Given the description of an element on the screen output the (x, y) to click on. 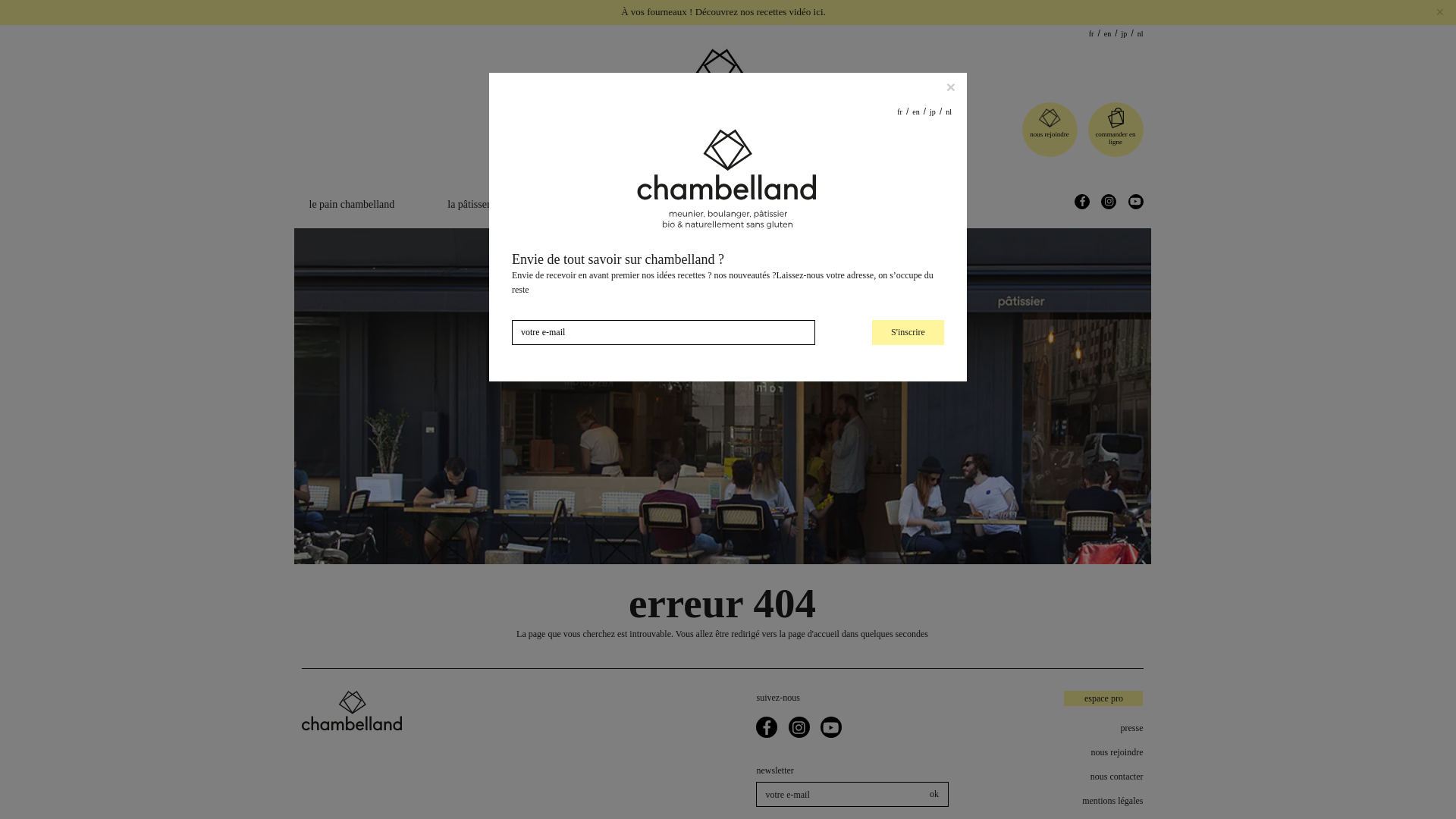
notre histoire (672, 204)
nous rejoindre (1072, 752)
en (1106, 33)
commander en ligne (1116, 137)
les boutiques (781, 204)
S'inscrire (907, 332)
le pain chambelland (351, 204)
les revendeurs (892, 204)
ok (934, 793)
ok (934, 793)
nous contacter (1072, 775)
fr (1091, 33)
presse (1072, 727)
jp (1123, 33)
espace pro (1103, 698)
